Given the description of an element on the screen output the (x, y) to click on. 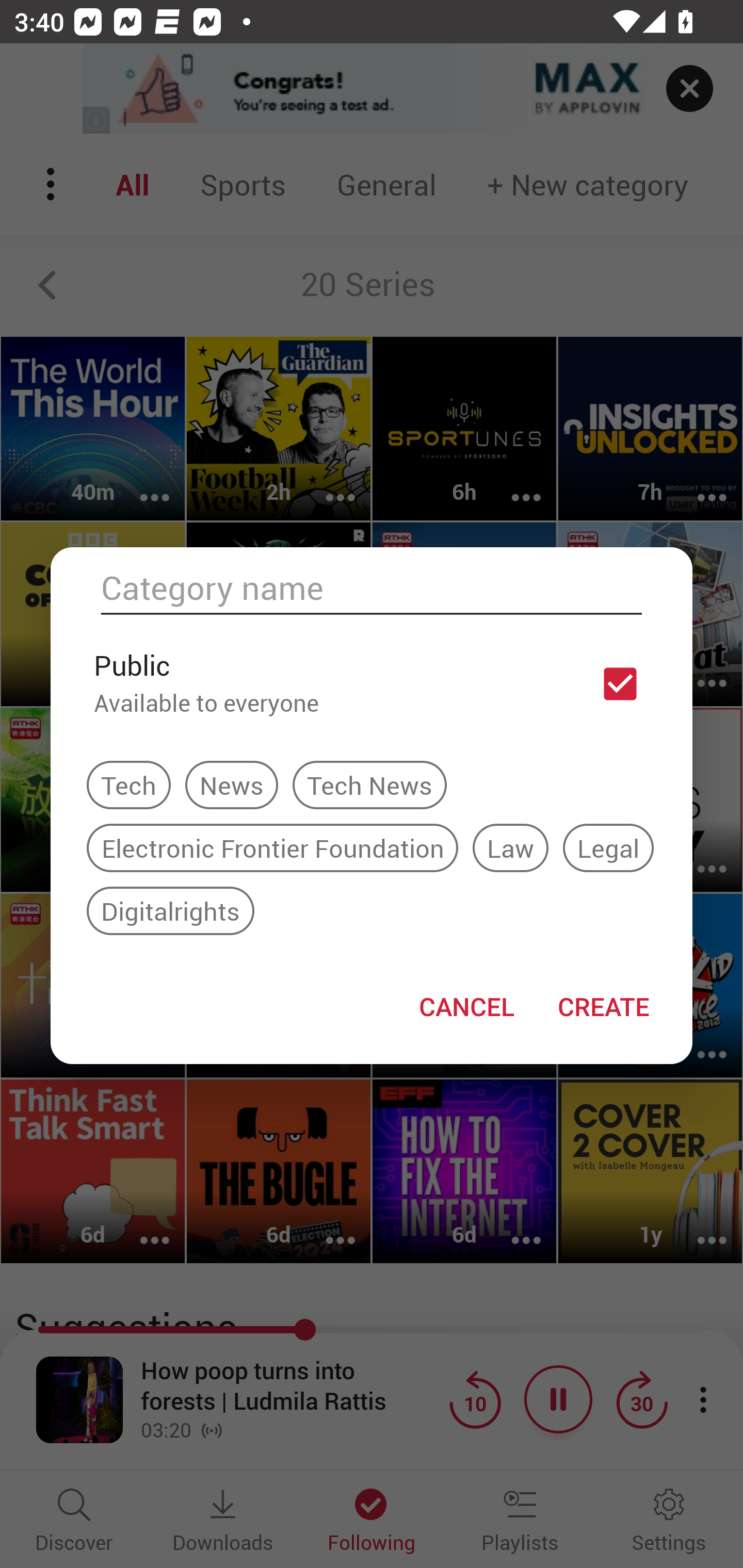
Category name (371, 587)
Public Available to everyone (371, 683)
Tech (128, 784)
News (231, 784)
Tech News (369, 784)
Electronic Frontier Foundation (272, 847)
Law (510, 847)
Legal (608, 847)
Digitalrights (170, 909)
CANCEL (465, 1005)
CREATE (602, 1005)
